Given the description of an element on the screen output the (x, y) to click on. 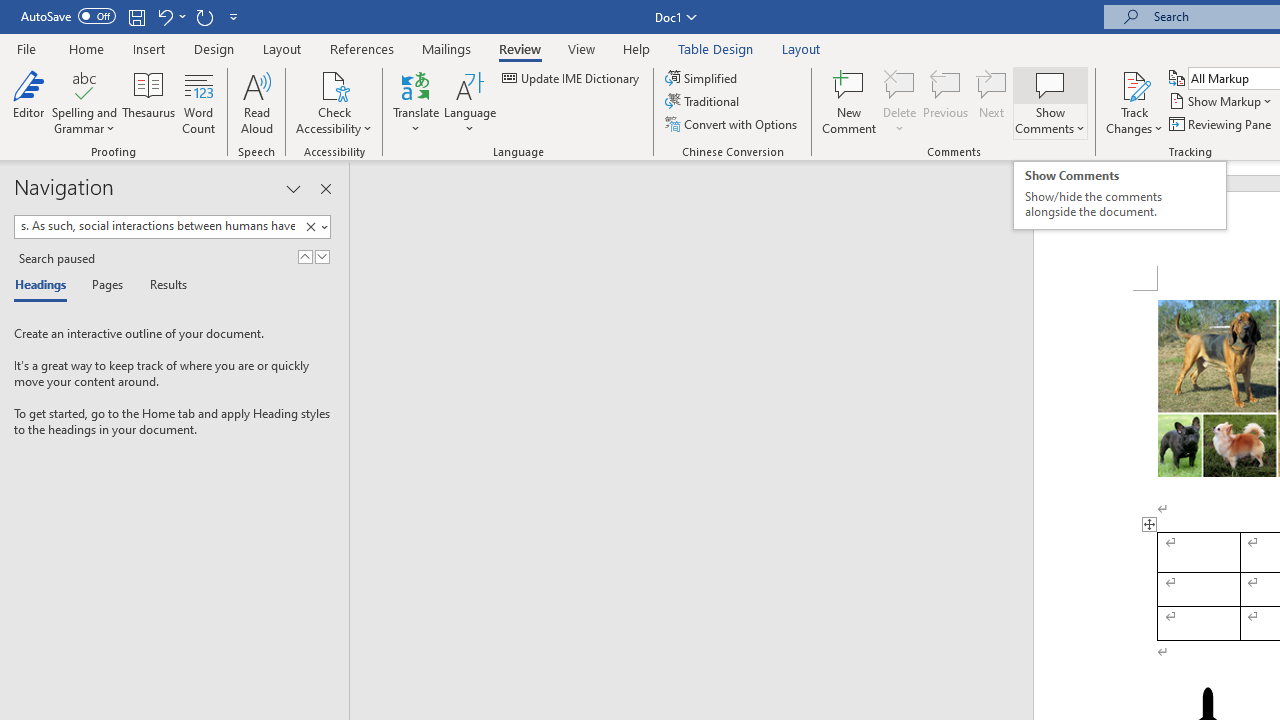
Delete (900, 102)
Spelling and Grammar (84, 102)
Spelling and Grammar (84, 84)
Track Changes (1134, 102)
Translate (415, 102)
Undo Style (164, 15)
Read Aloud (256, 102)
New Comment (849, 102)
Editor (28, 102)
